Given the description of an element on the screen output the (x, y) to click on. 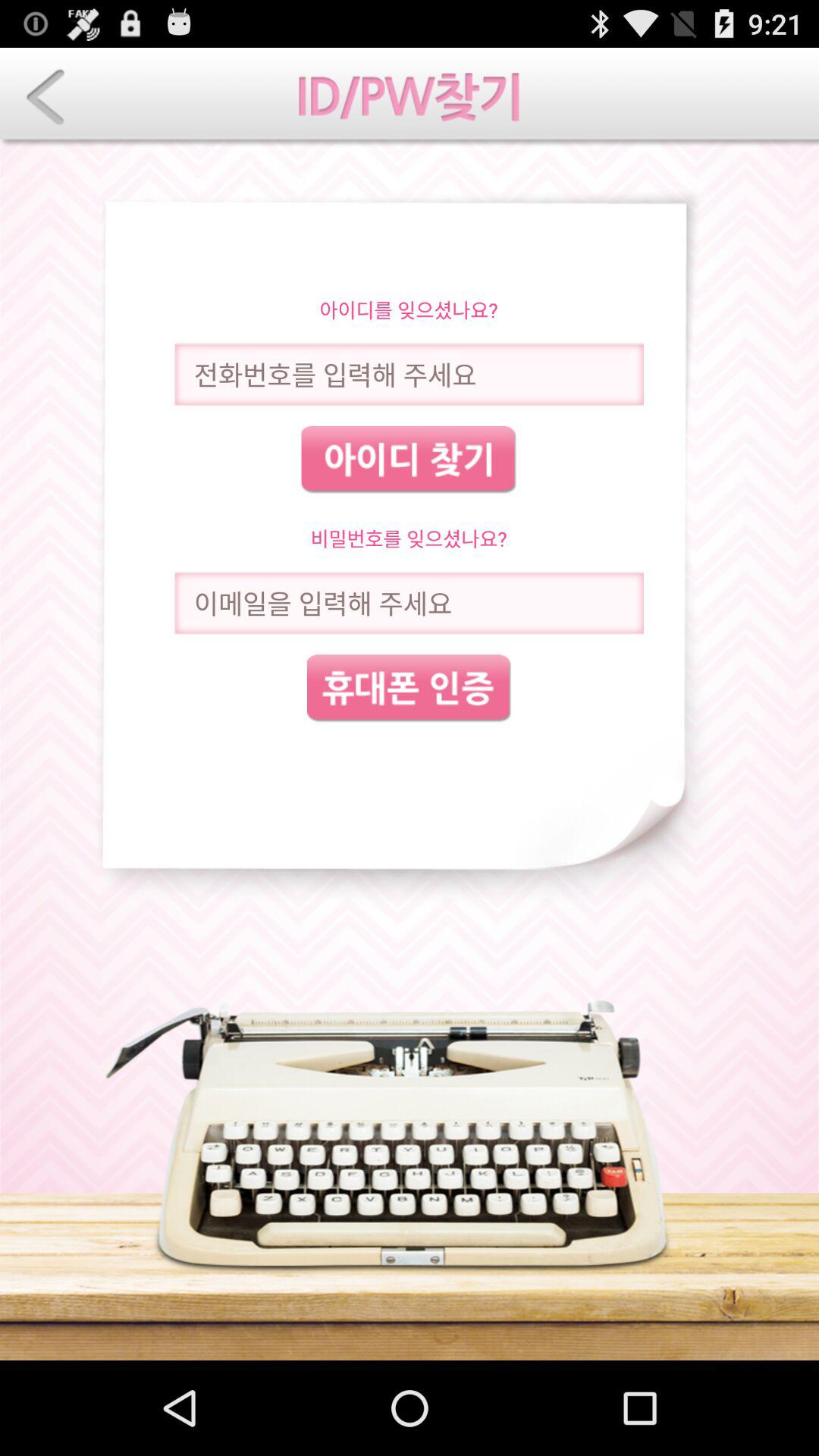
type here (408, 603)
